Given the description of an element on the screen output the (x, y) to click on. 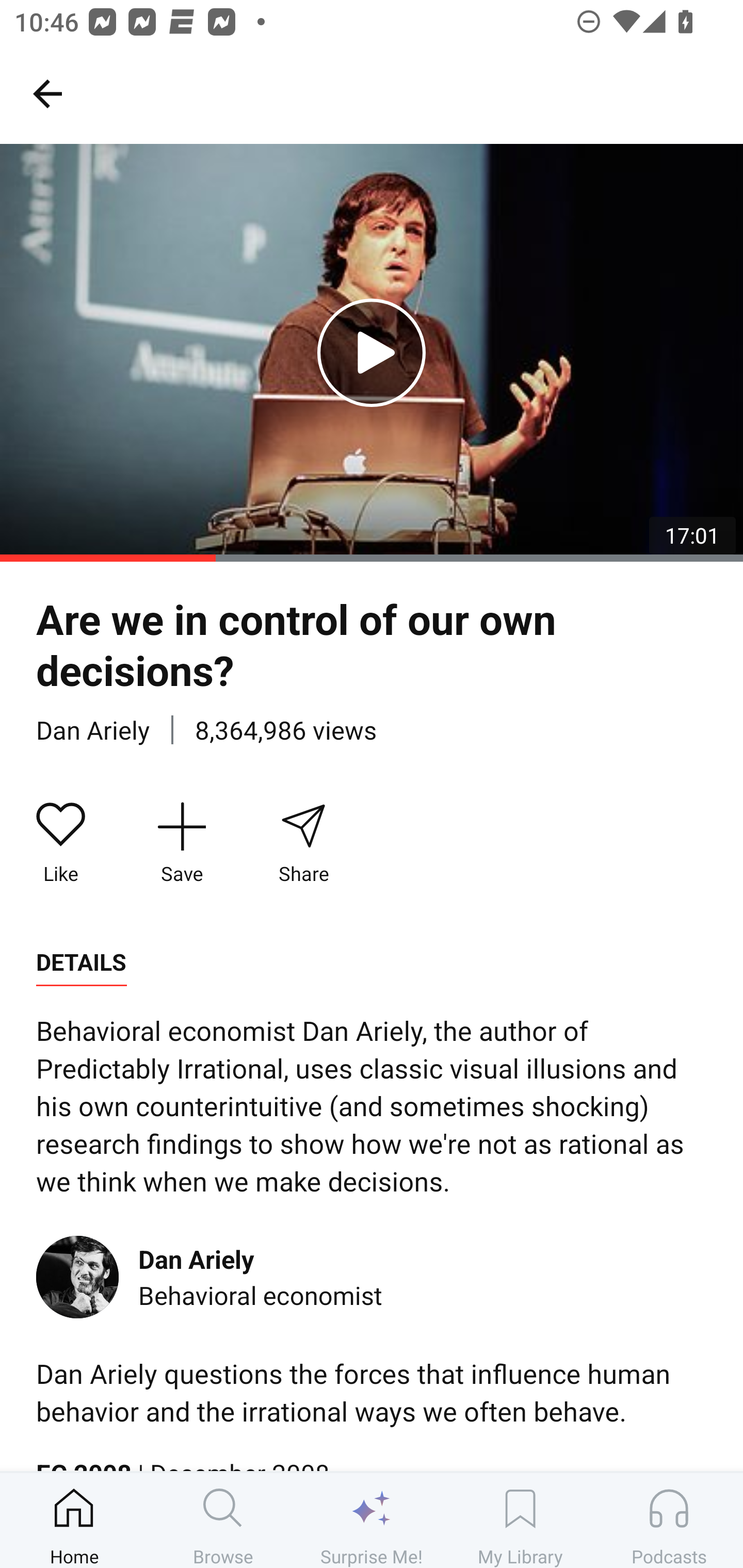
Home, back (47, 92)
Like (60, 843)
Save (181, 843)
Share (302, 843)
DETAILS (80, 962)
Home (74, 1520)
Browse (222, 1520)
Surprise Me! (371, 1520)
My Library (519, 1520)
Podcasts (668, 1520)
